Given the description of an element on the screen output the (x, y) to click on. 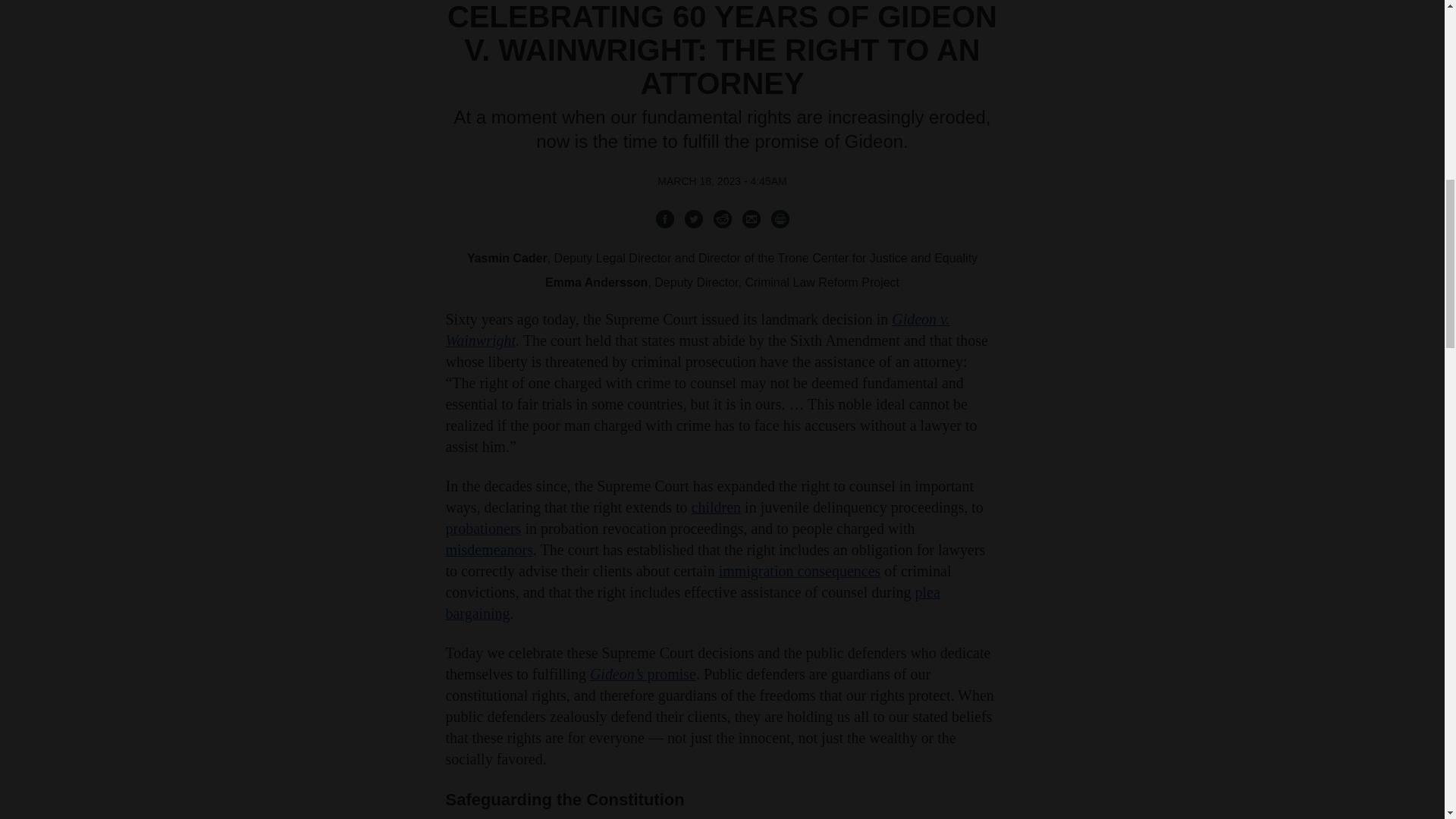
Email this page (750, 218)
Submit this to Twitter (692, 218)
Submit this to Reddit (721, 218)
Submit this to Facebook (663, 218)
